Given the description of an element on the screen output the (x, y) to click on. 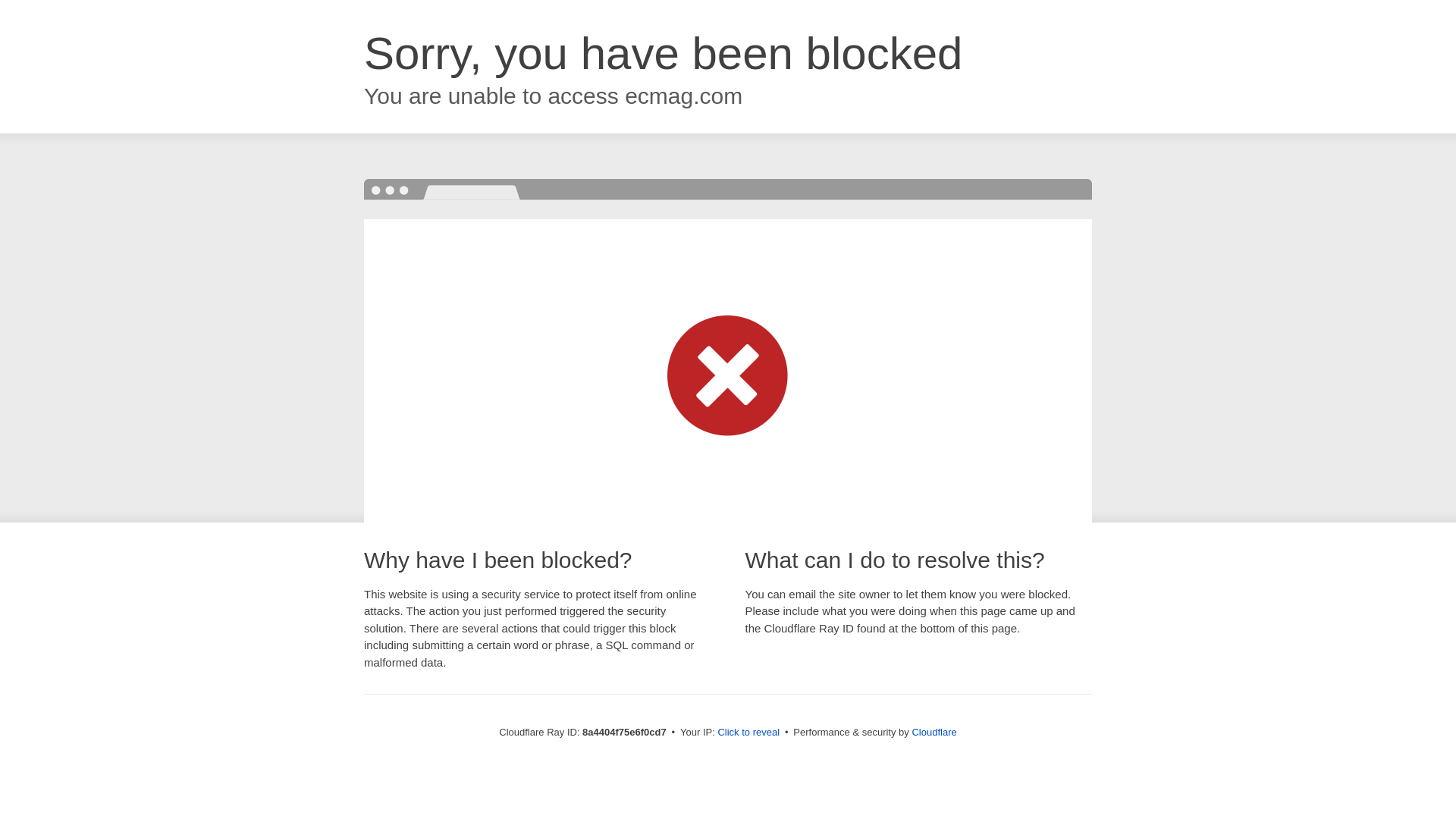
Click to reveal (747, 732)
Cloudflare (933, 731)
